Given the description of an element on the screen output the (x, y) to click on. 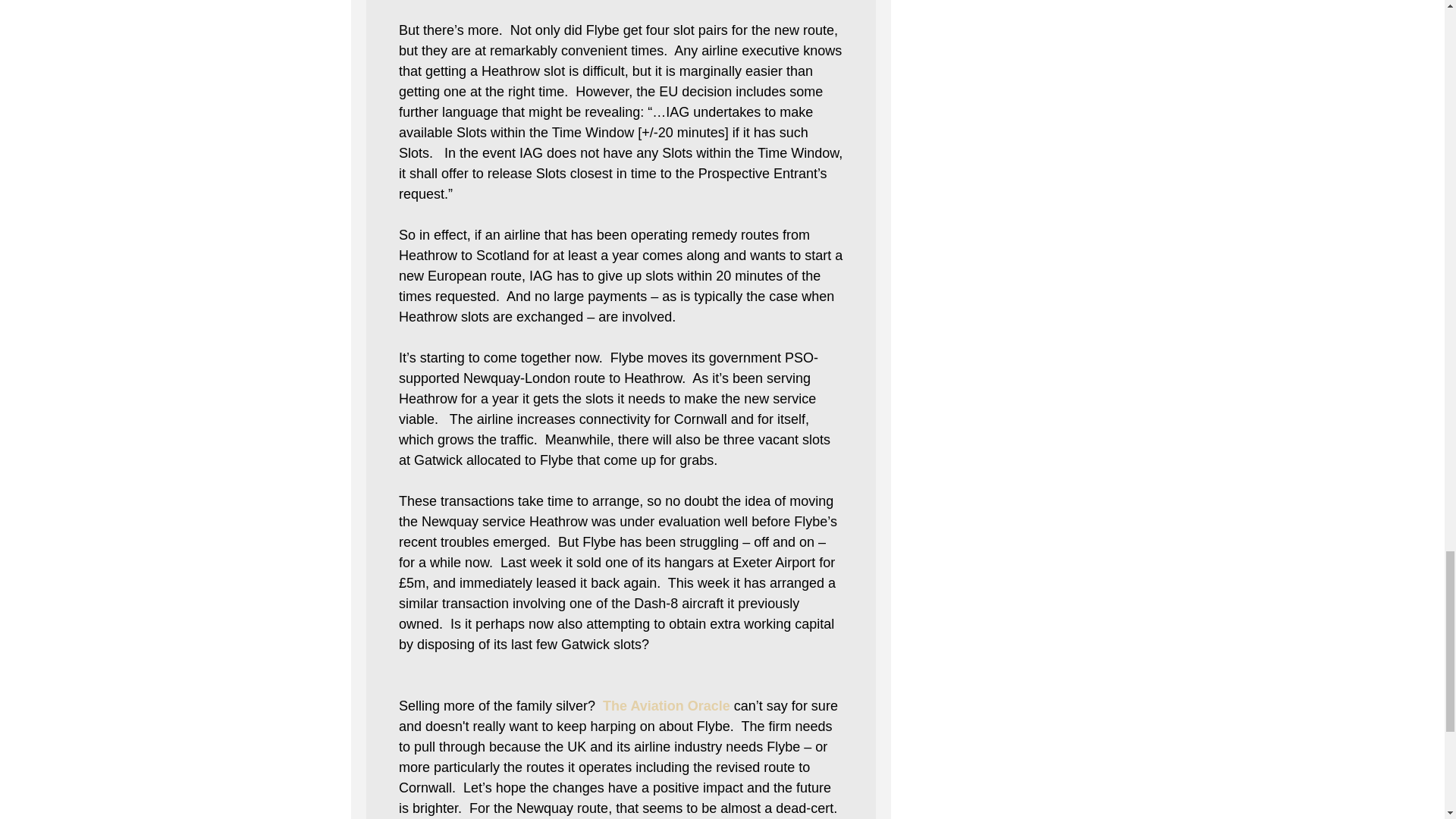
The Aviation Oracle (666, 705)
